Given the description of an element on the screen output the (x, y) to click on. 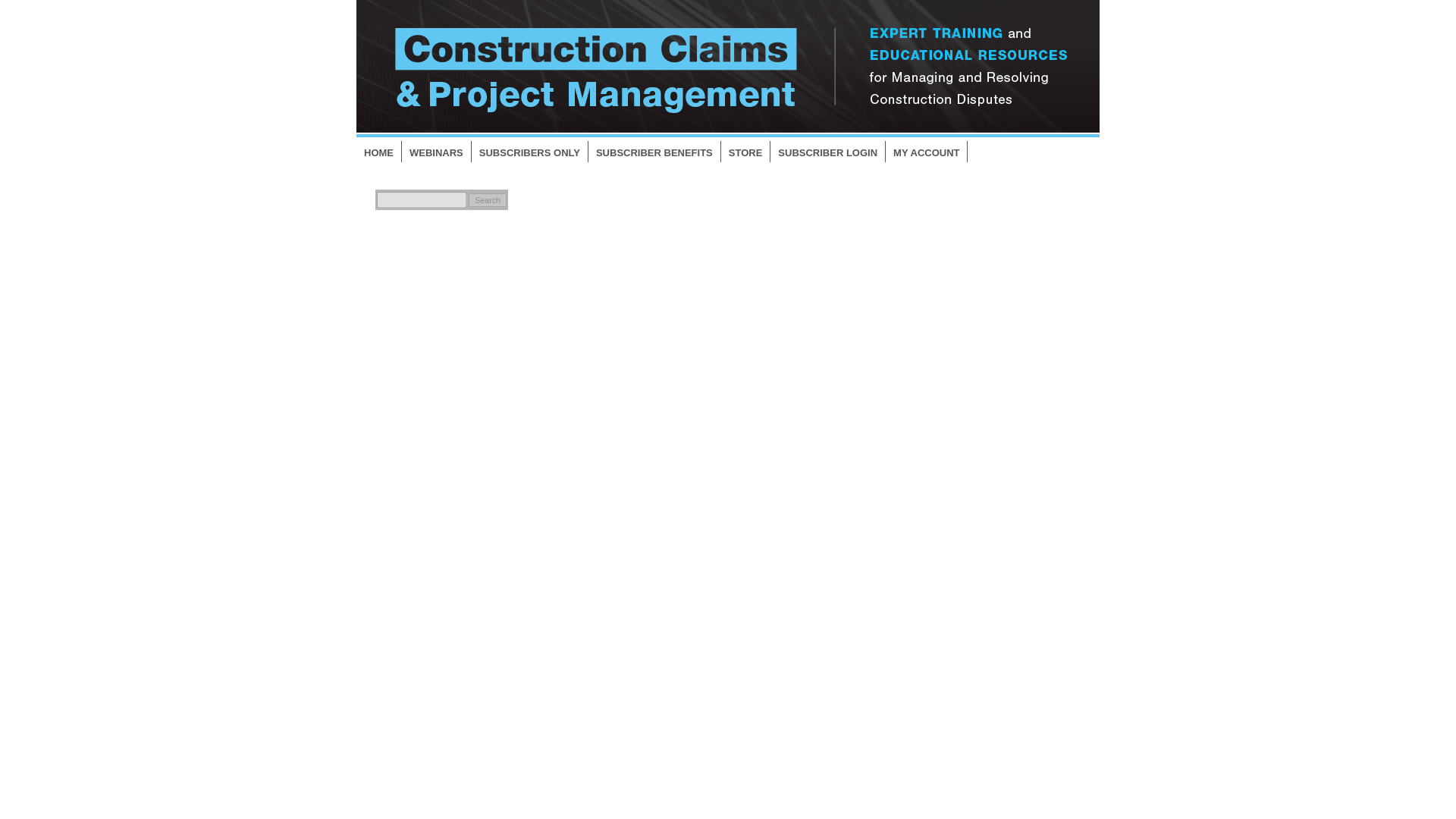
WEBINARS (436, 151)
SUBSCRIBERS ONLY (529, 151)
About Us (959, 657)
SUBSCRIBER LOGIN (827, 151)
STORE (745, 151)
Search (487, 200)
MY ACCOUNT (926, 151)
Contact Us (963, 680)
Privacy Policy (970, 703)
HOME (378, 151)
Search (487, 200)
SUBSCRIBER BENEFITS (654, 151)
My Account (964, 726)
